Given the description of an element on the screen output the (x, y) to click on. 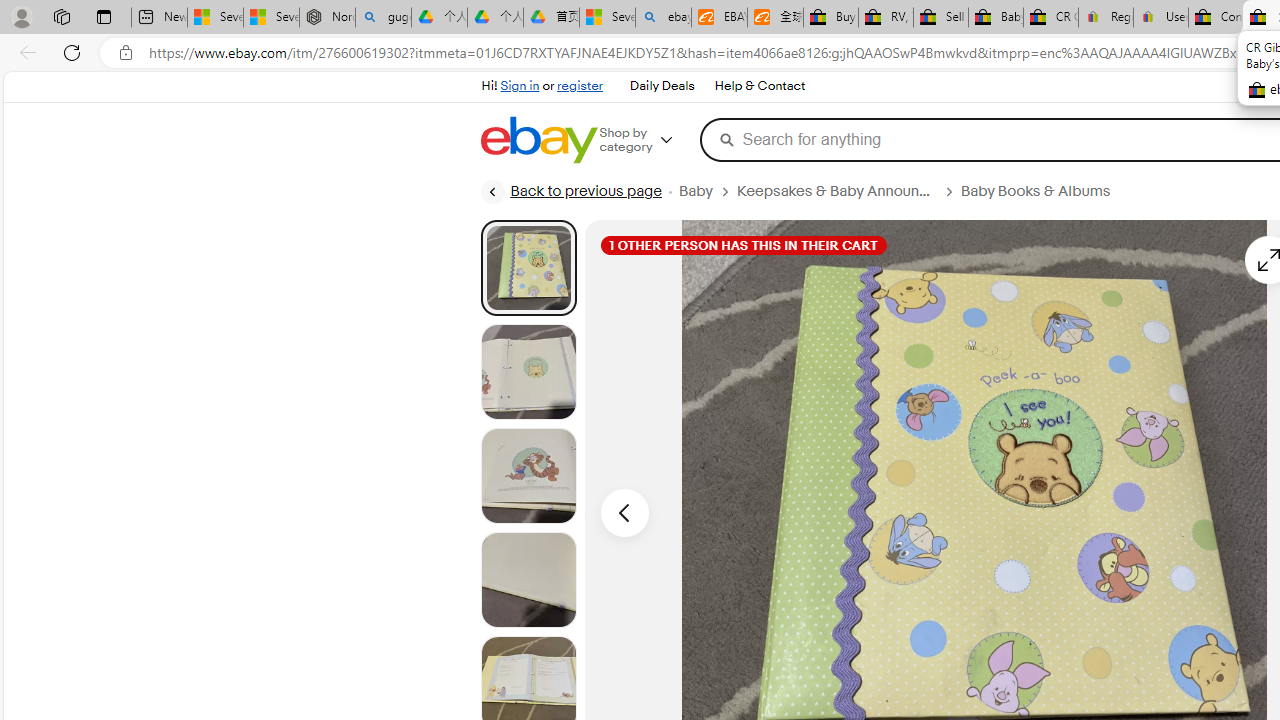
Baby (707, 191)
Workspaces (61, 16)
Previous image - Item images thumbnails (624, 512)
Baby Keepsakes & Announcements for sale | eBay (995, 17)
User Privacy Notice | eBay (1160, 17)
Register: Create a personal eBay account (1105, 17)
Shop by category (649, 140)
Picture 4 of 22 (528, 579)
Picture 3 of 22 (528, 475)
Refresh (72, 52)
Sell worldwide with eBay (940, 17)
Consumer Health Data Privacy Policy - eBay Inc. (1215, 17)
